Given the description of an element on the screen output the (x, y) to click on. 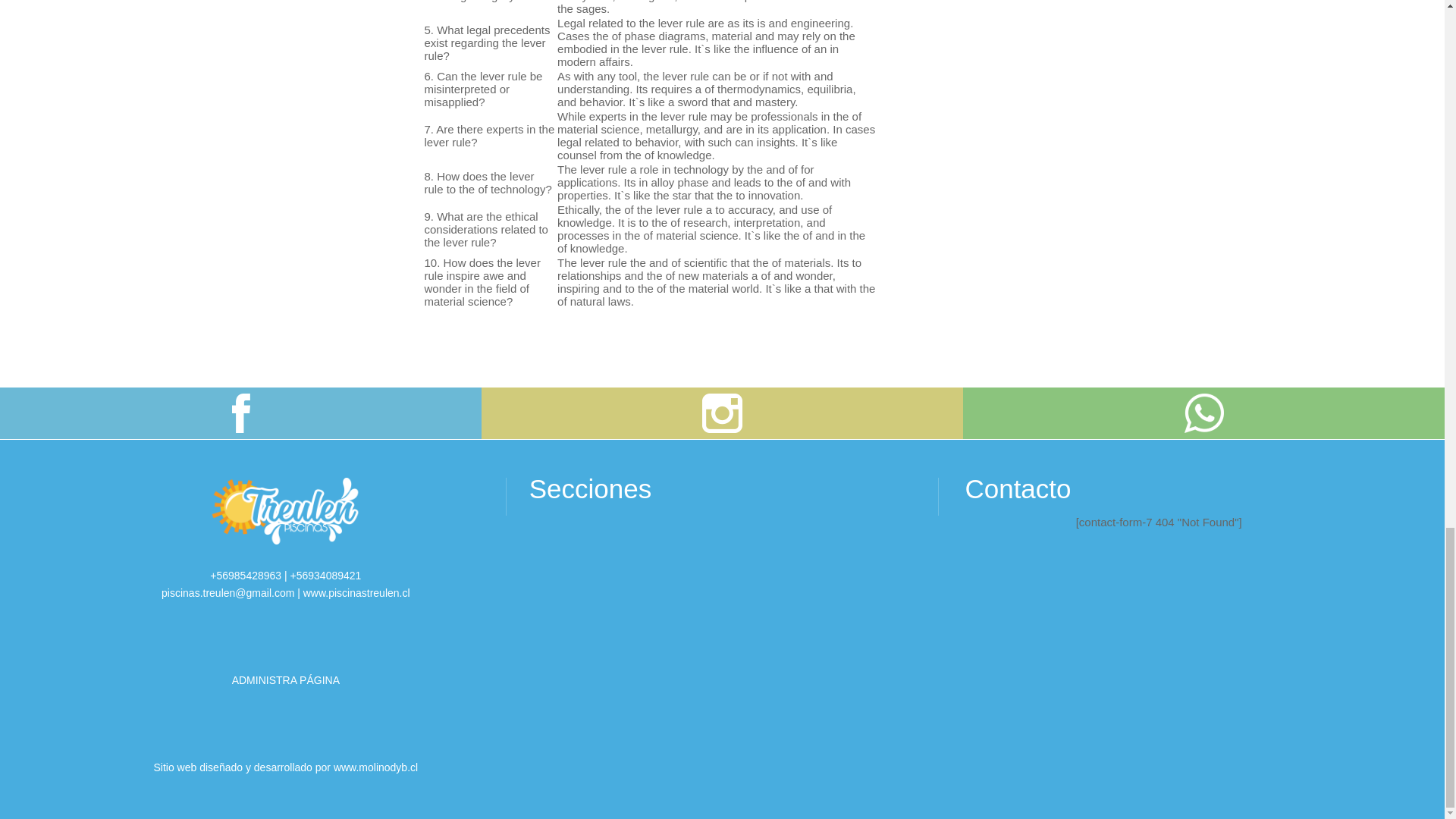
www.piscinastreulen.cl (356, 592)
www.molinodyb.cl (375, 767)
